Given the description of an element on the screen output the (x, y) to click on. 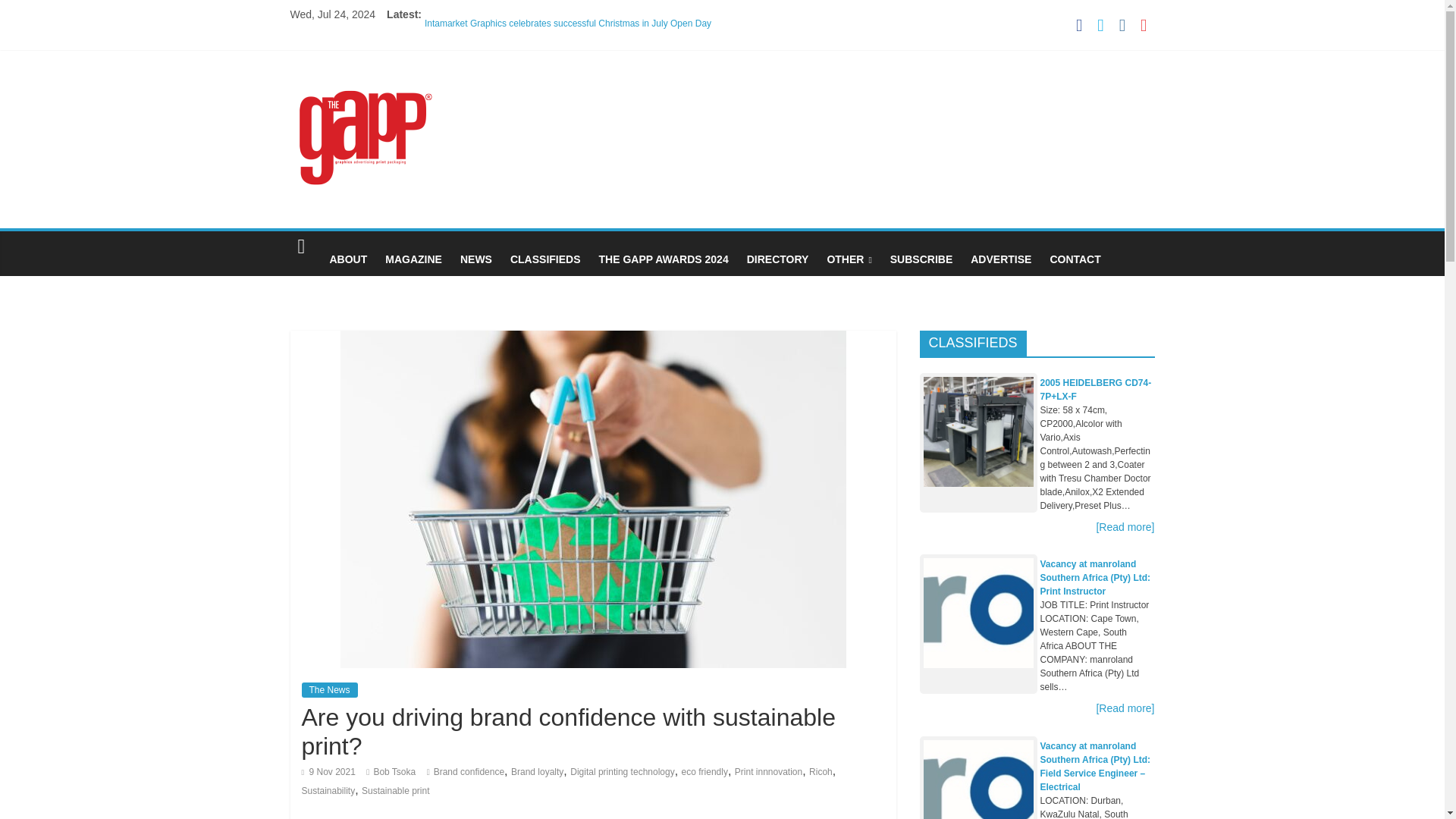
Registration opens for Labelexpo India 2024 (514, 51)
CONTACT (1075, 259)
The renaissance of print (473, 81)
Revealed: The secret world of industrial ink (511, 37)
OTHER (848, 259)
ABOUT (347, 259)
CLASSIFIEDS (544, 259)
DIRECTORY (778, 259)
The News (329, 689)
NEWS (475, 259)
The renaissance of print (473, 81)
